Given the description of an element on the screen output the (x, y) to click on. 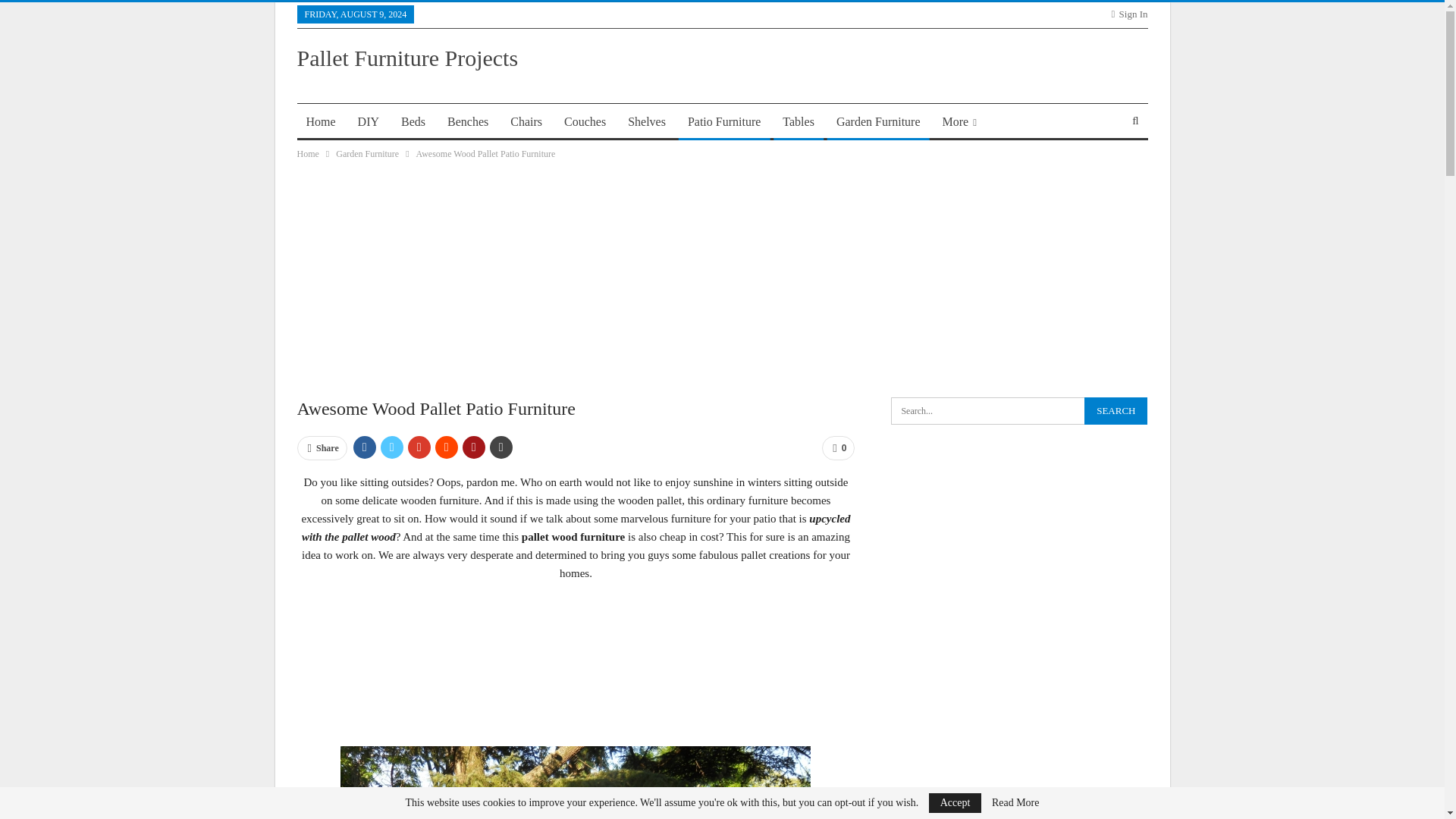
Tables (798, 121)
Benches (467, 121)
Garden Furniture (367, 153)
DIY (368, 121)
0 (838, 447)
Chairs (525, 121)
Sign In (1130, 13)
Pallet Furniture Projects (407, 57)
Patio Furniture (724, 121)
Couches (584, 121)
